Given the description of an element on the screen output the (x, y) to click on. 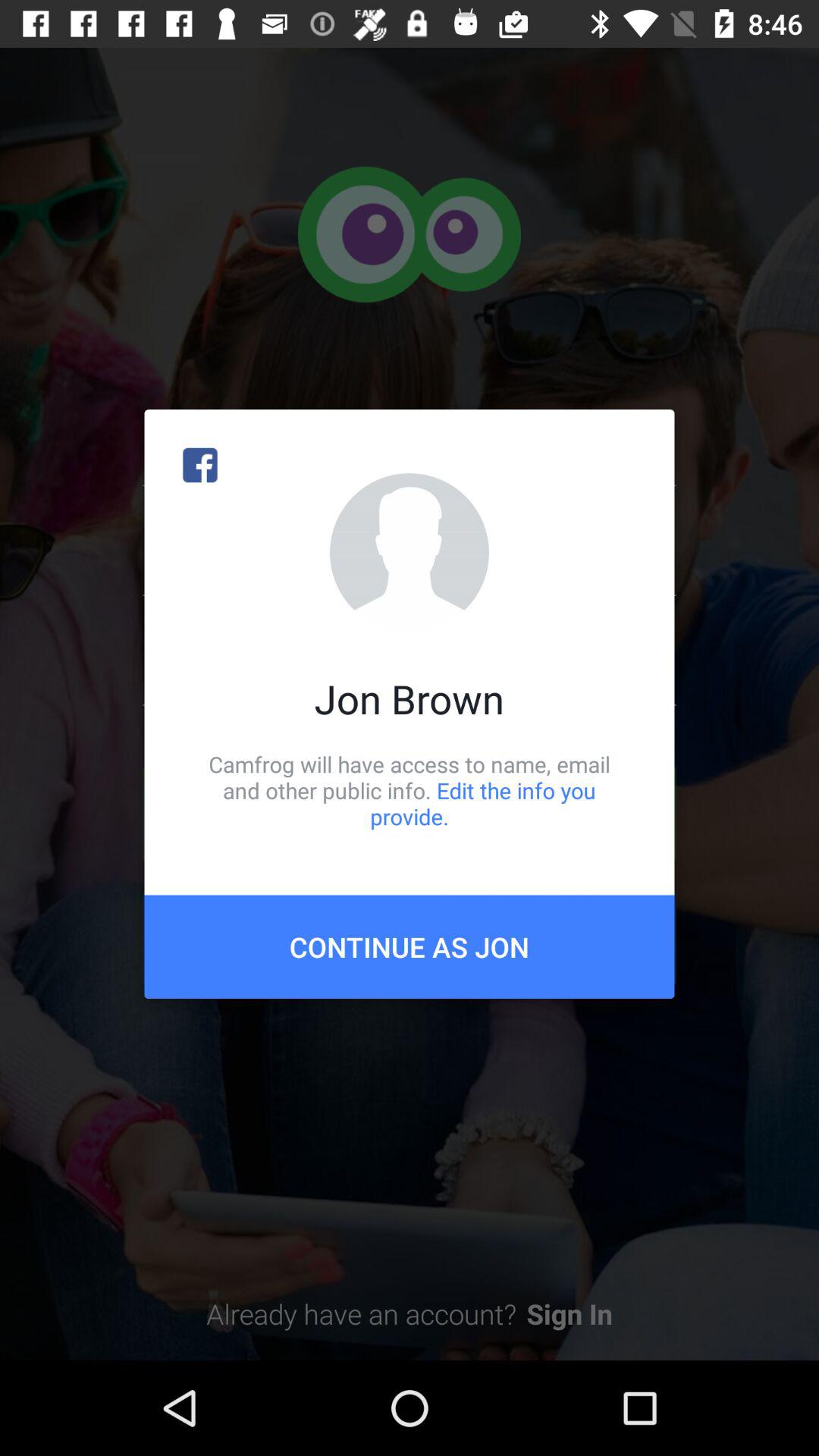
flip to the camfrog will have (409, 790)
